Given the description of an element on the screen output the (x, y) to click on. 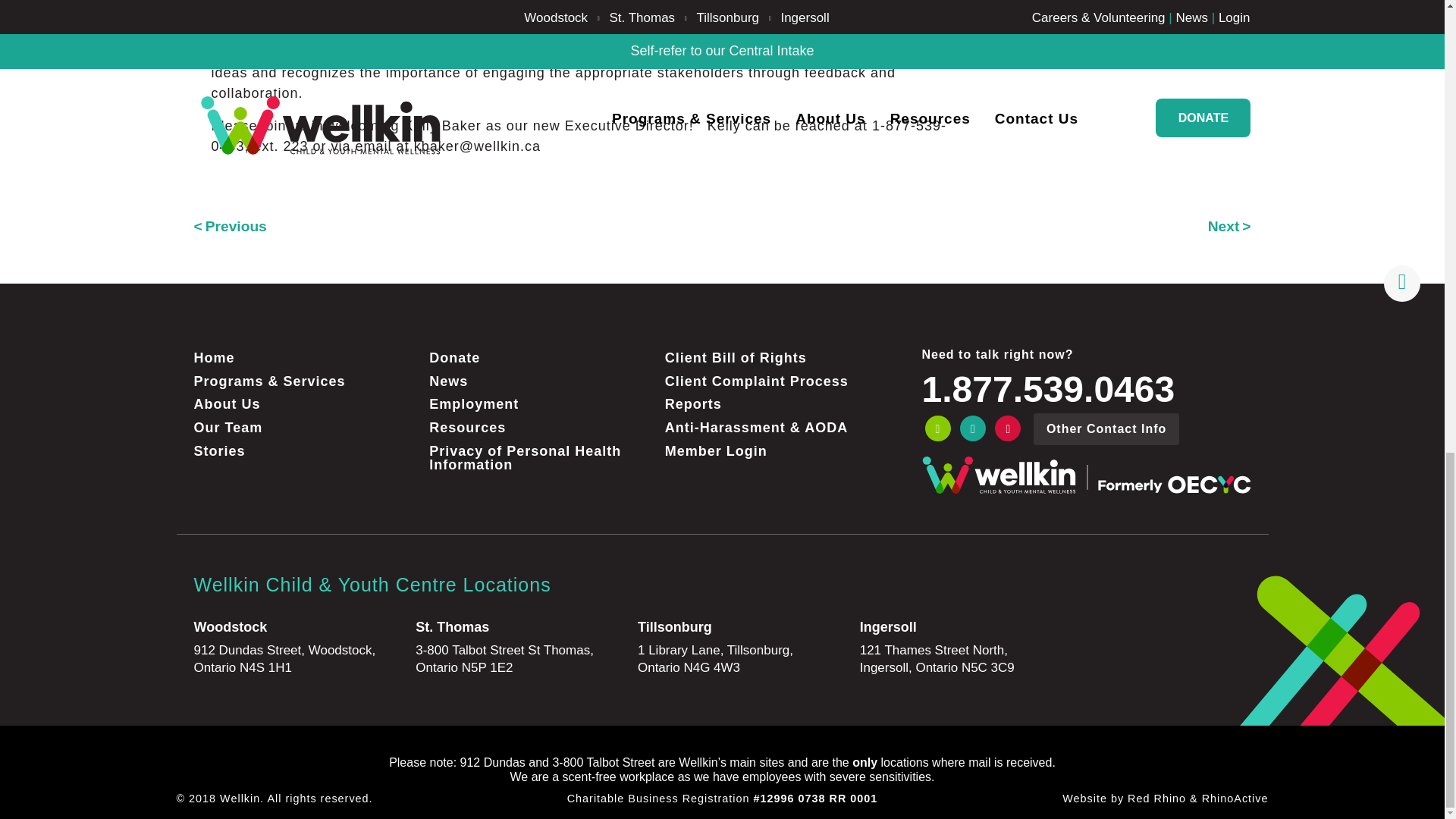
Previous (229, 226)
Home (304, 357)
Our Team (304, 427)
About Us (304, 404)
Next (1229, 226)
